Given the description of an element on the screen output the (x, y) to click on. 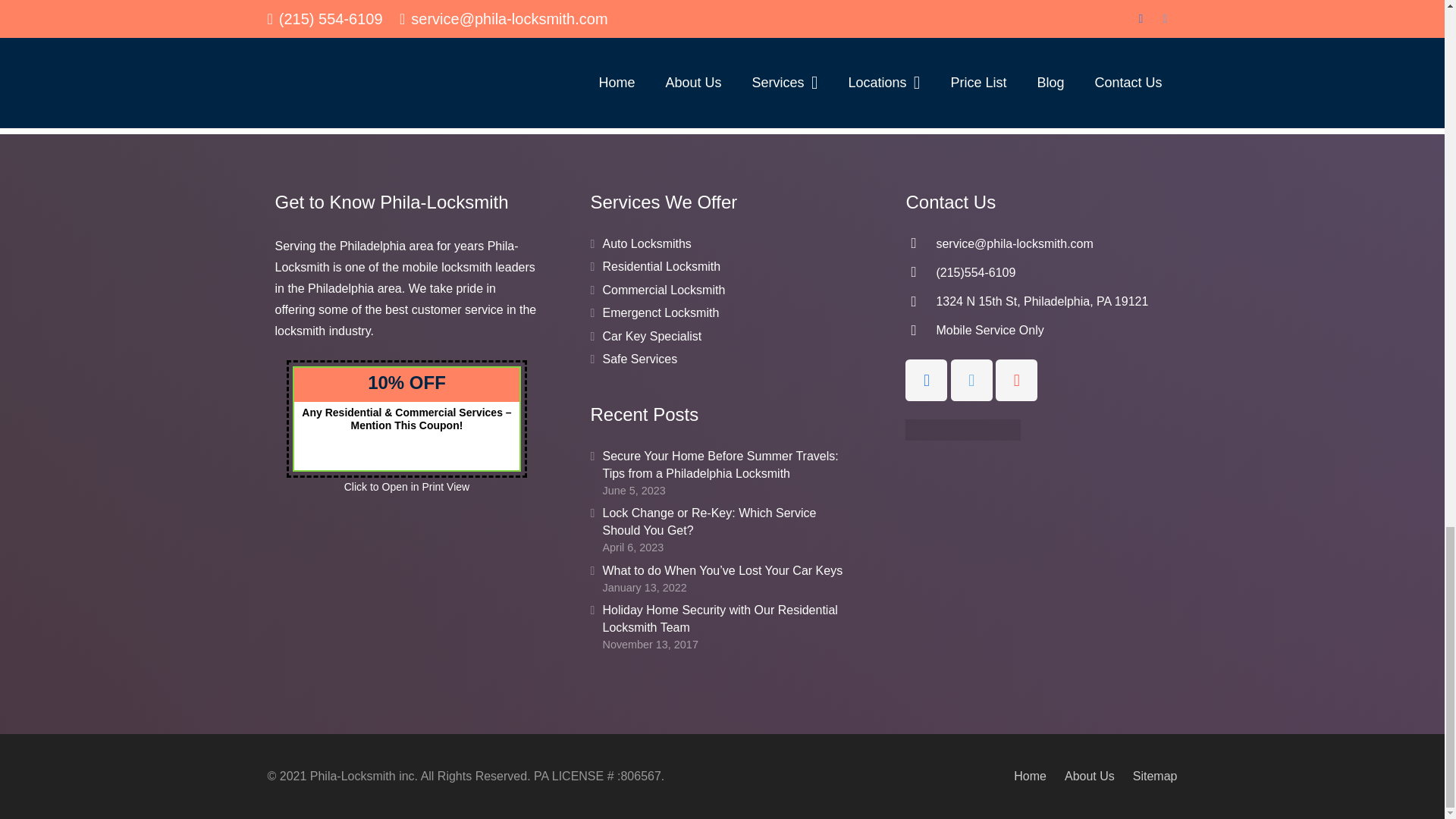
Twitter (971, 380)
Facebook (926, 380)
Google (1015, 380)
